Given the description of an element on the screen output the (x, y) to click on. 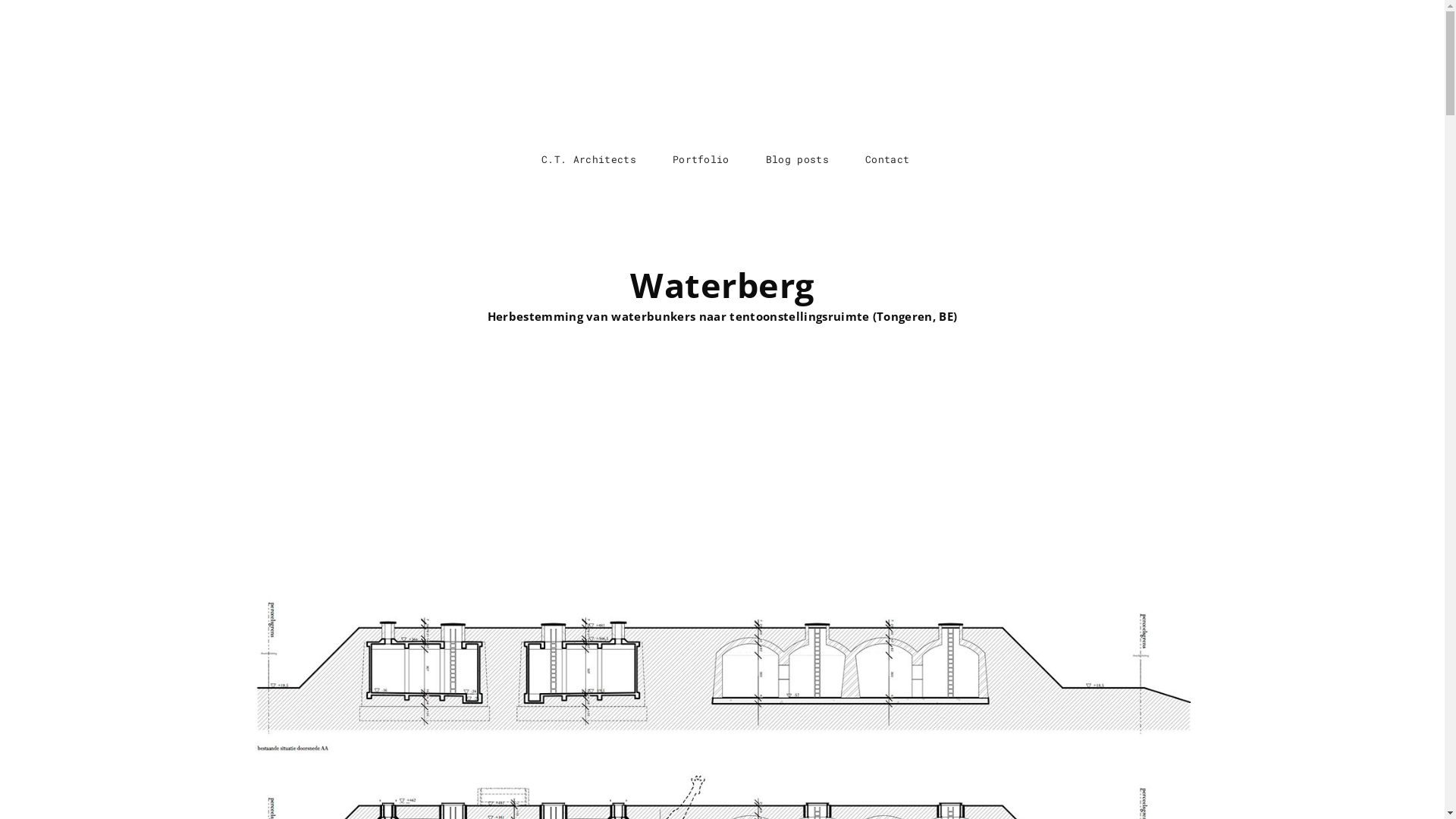
Blog posts Element type: text (797, 158)
Contact Element type: text (887, 158)
C.T. Architects Element type: text (588, 158)
Portfolio Element type: text (700, 158)
